Given the description of an element on the screen output the (x, y) to click on. 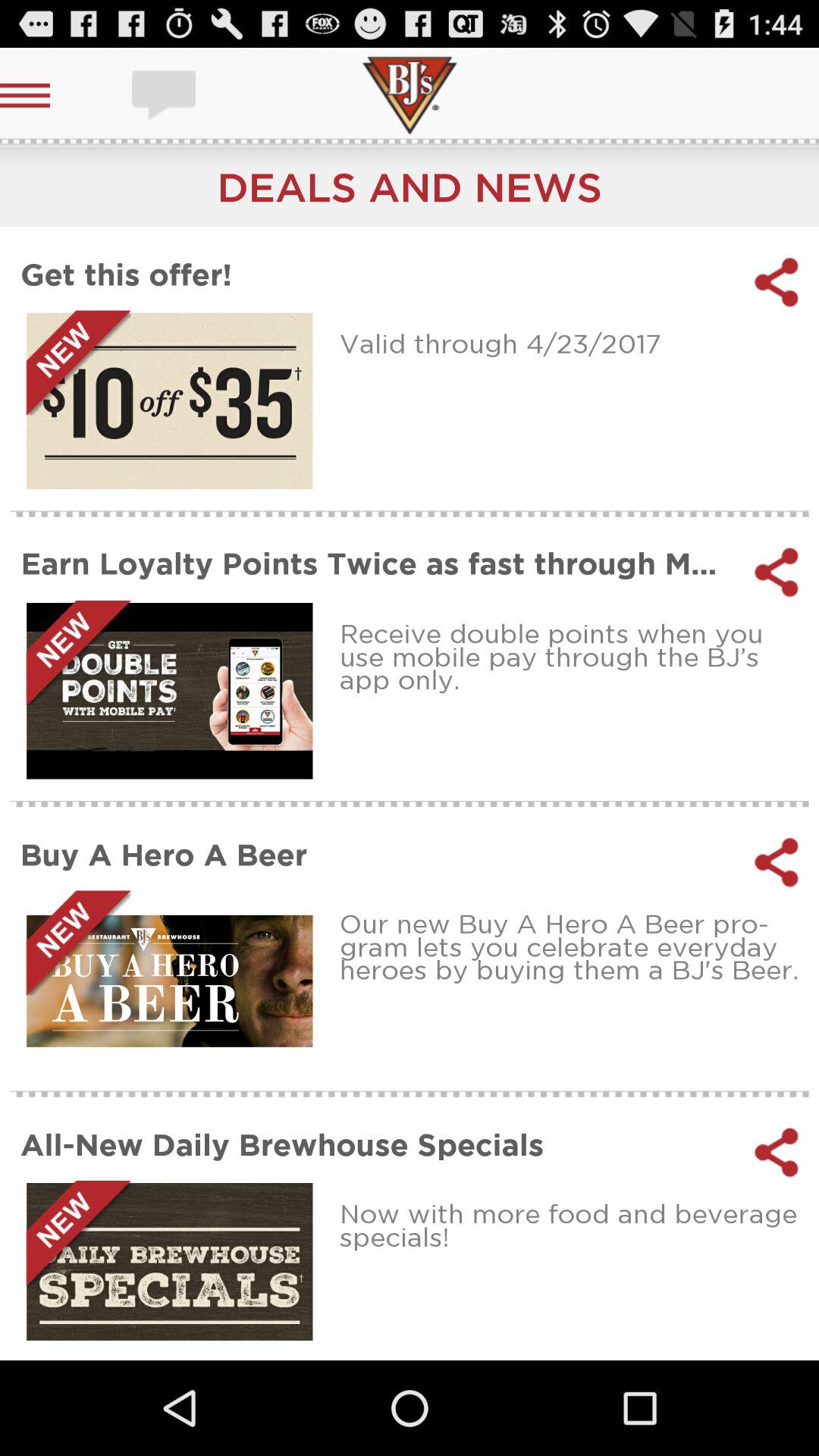
click to share option (776, 1152)
